Given the description of an element on the screen output the (x, y) to click on. 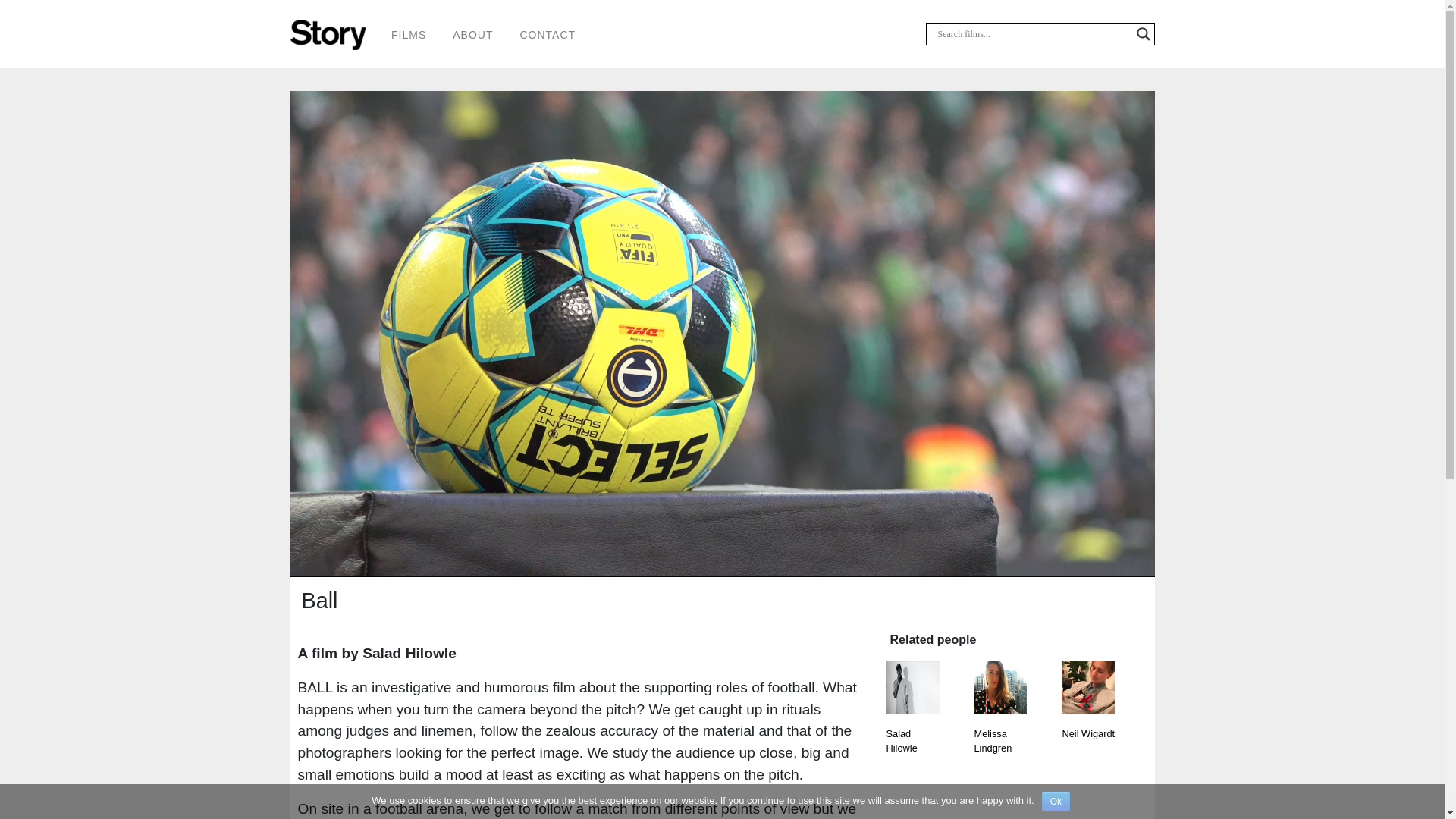
Contact (547, 34)
Films (408, 34)
Melissa Lindgren (1000, 752)
FILMS (408, 34)
About (472, 34)
CONTACT (547, 34)
Neil Wigardt (1088, 752)
ABOUT (472, 34)
Salad Hilowle (912, 752)
